Given the description of an element on the screen output the (x, y) to click on. 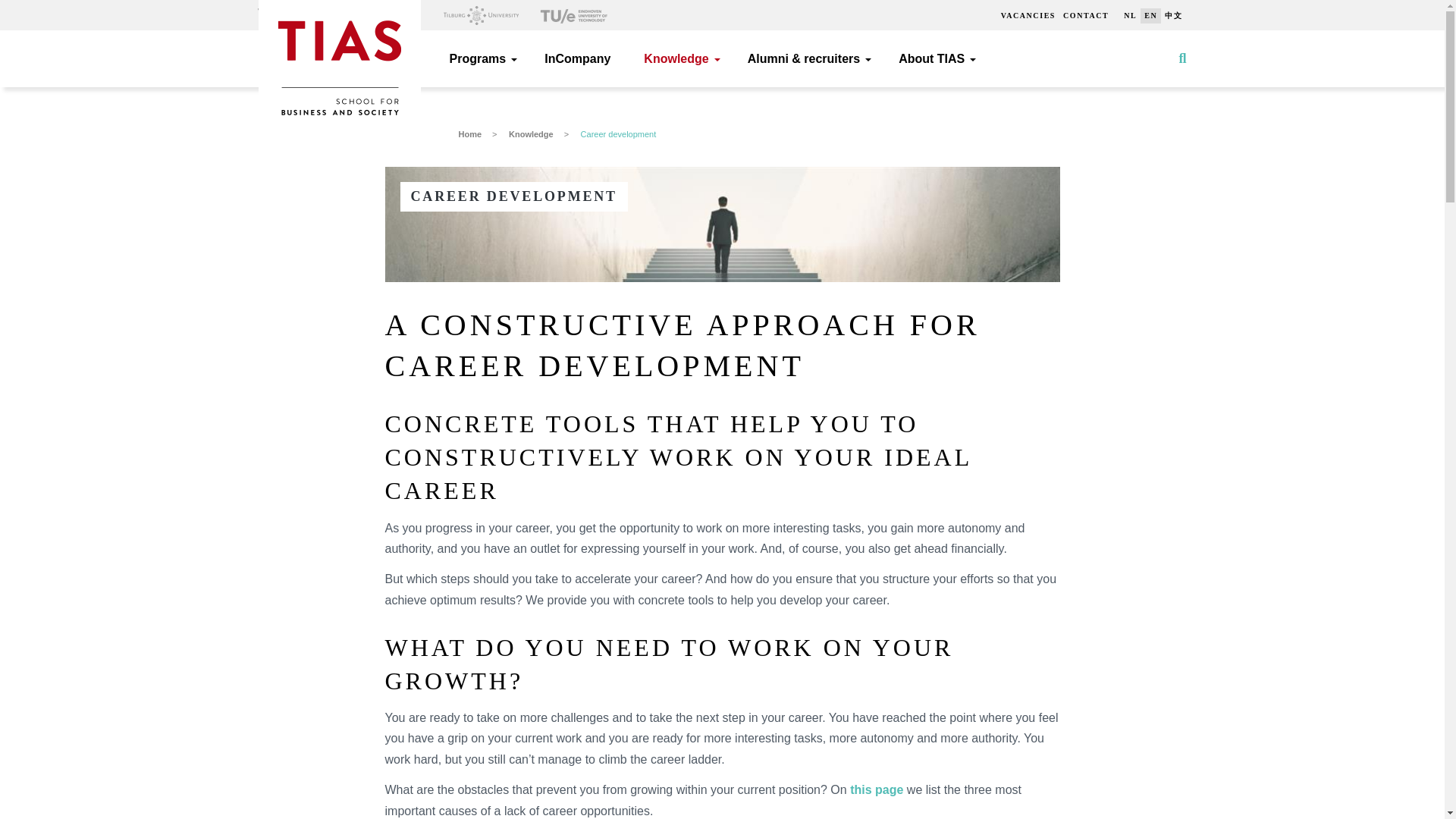
NL (1129, 15)
logo-tu-eindhoven (574, 15)
Programs (479, 58)
Knowledge (678, 58)
Tias (338, 28)
logo-universiteit-tilburg (480, 15)
InCompany (577, 58)
CONTACT (1085, 15)
About TIAS (934, 58)
Nederlands (1129, 15)
English (1150, 15)
EN (1150, 15)
VACANCIES (1028, 15)
